Given the description of an element on the screen output the (x, y) to click on. 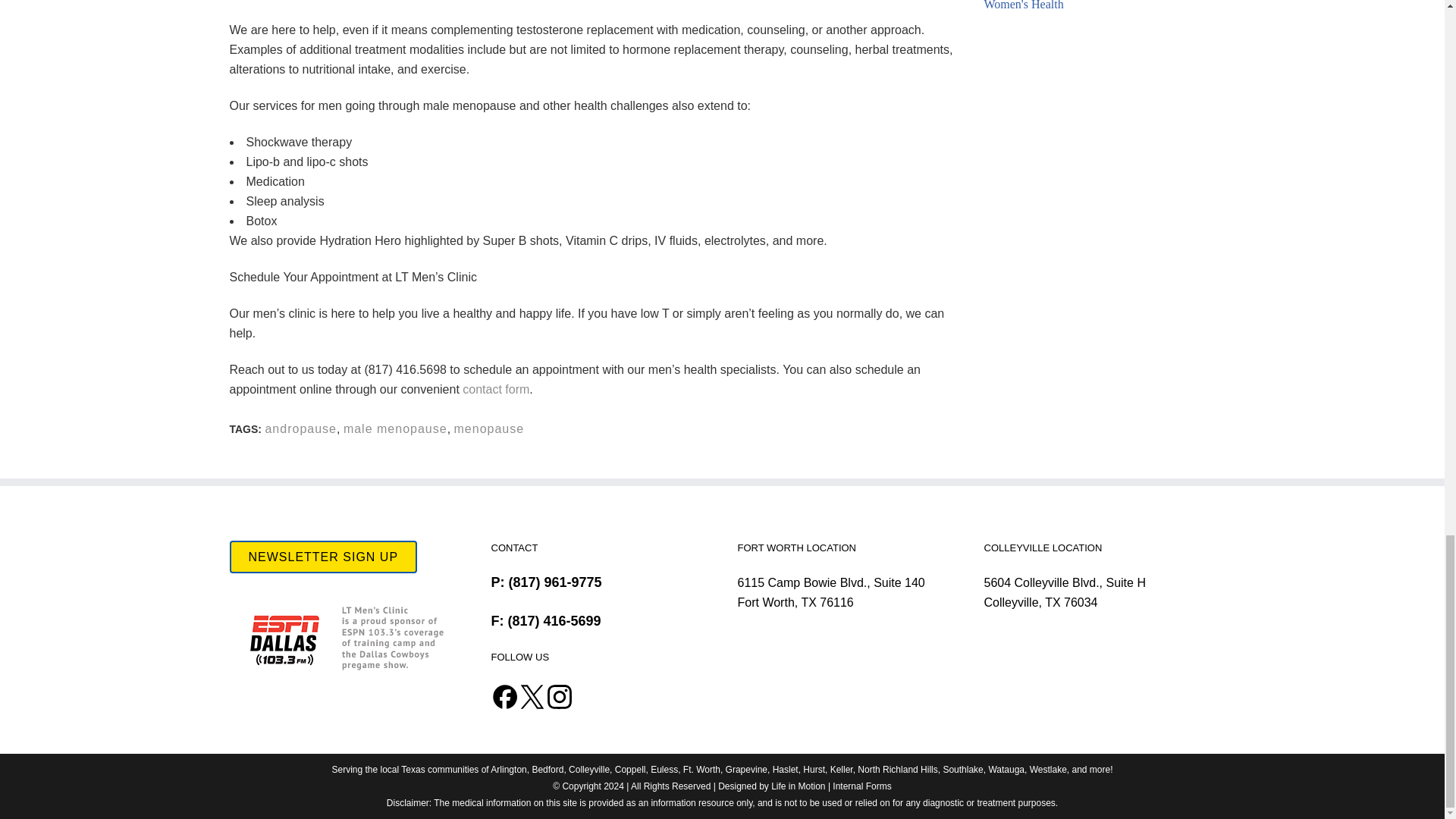
facebook (504, 696)
instagram (559, 706)
twitter (531, 696)
instagram (559, 696)
twitter (532, 706)
facebook (505, 707)
